Given the description of an element on the screen output the (x, y) to click on. 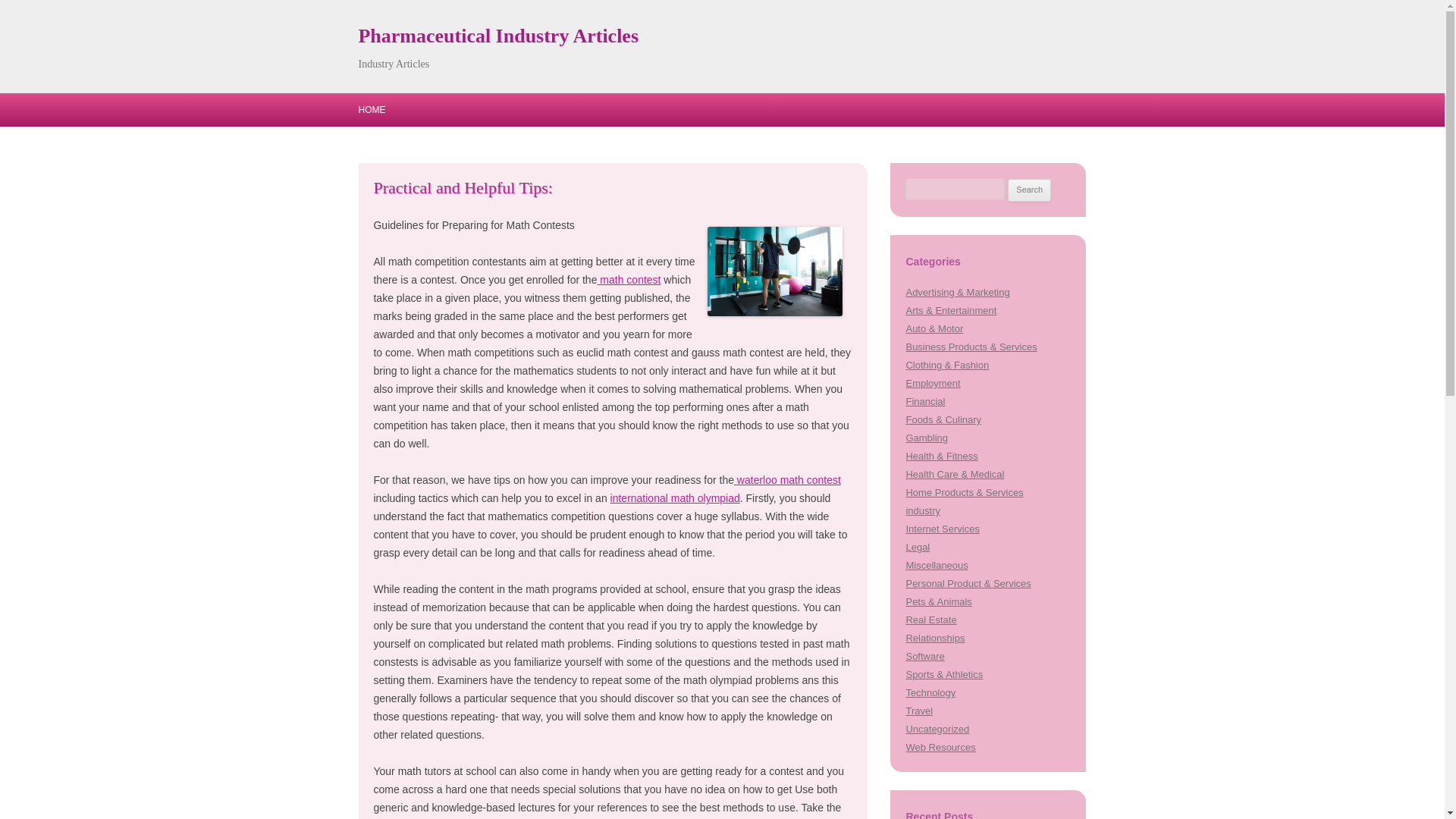
Real Estate (930, 619)
Miscellaneous (936, 564)
Travel (919, 710)
math contest (628, 279)
Uncategorized (937, 728)
Software (924, 655)
Financial (924, 401)
Pharmaceutical Industry Articles (498, 36)
Legal (917, 546)
Search (1029, 190)
Gambling (926, 437)
international math olympiad (674, 498)
waterloo math contest (787, 480)
